Given the description of an element on the screen output the (x, y) to click on. 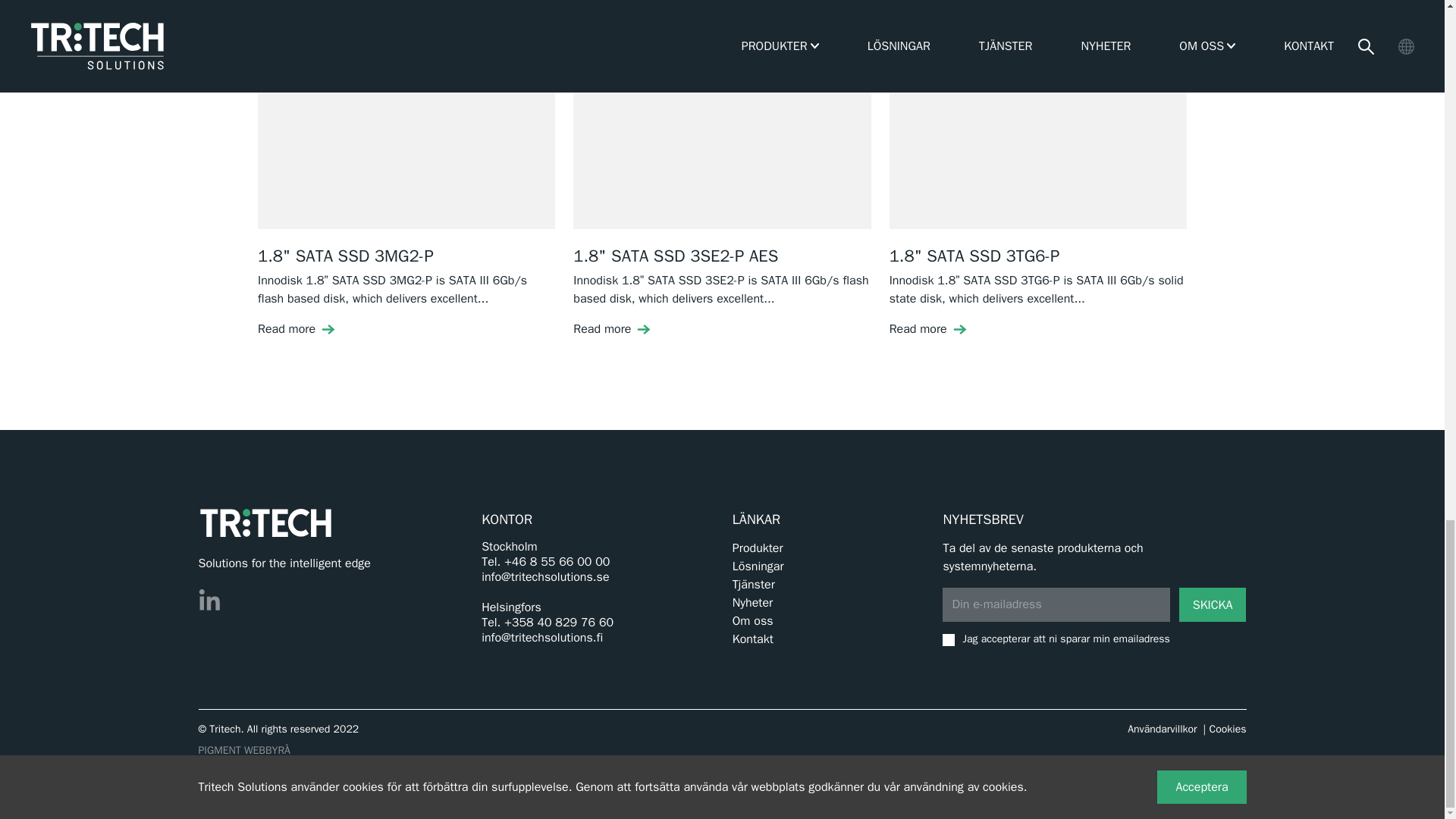
1.8" SATA SSD 3MG2-P (405, 133)
Tritech (265, 522)
1.8" SATA SSD 3MG2-P (345, 255)
ALL PRODUKTER (1132, 2)
